Given the description of an element on the screen output the (x, y) to click on. 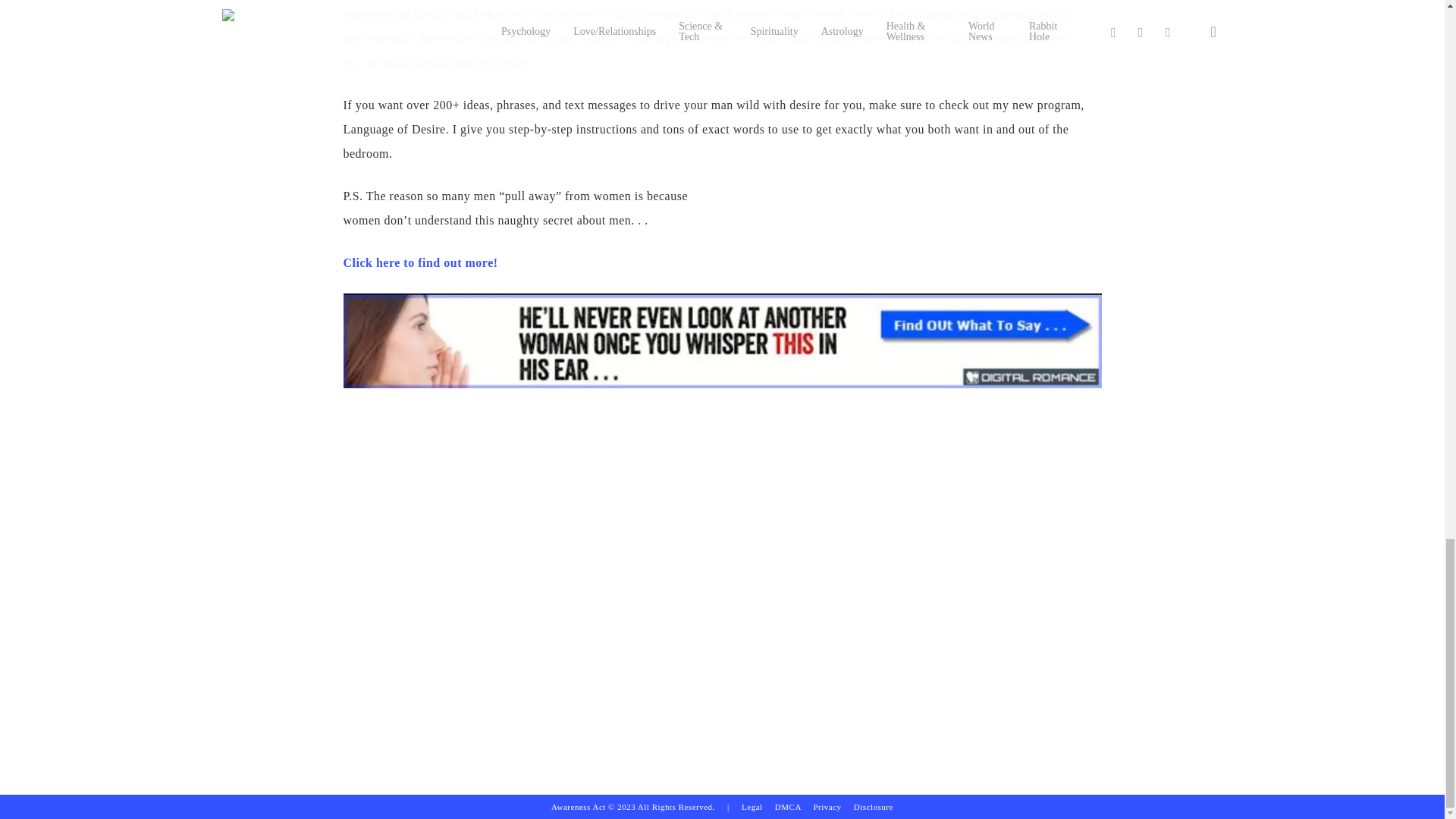
Click here to find out more! (419, 262)
